Given the description of an element on the screen output the (x, y) to click on. 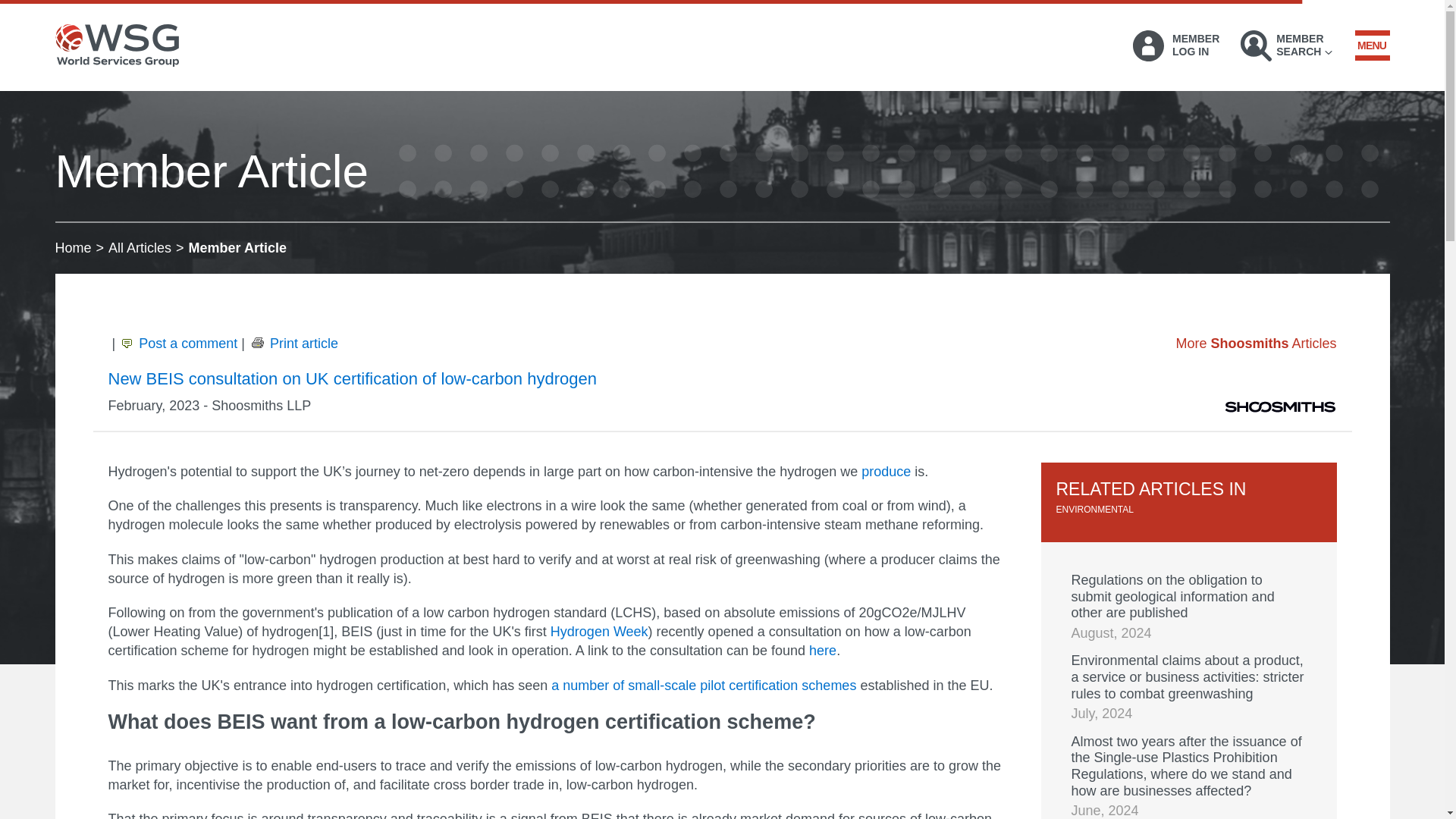
All Articles (139, 247)
More Shoosmiths Articles (1255, 343)
MENU (1371, 45)
Print article (292, 343)
Toggle Menu (1371, 45)
Hydrogen Week (598, 631)
here (822, 650)
Home (72, 247)
